Given the description of an element on the screen output the (x, y) to click on. 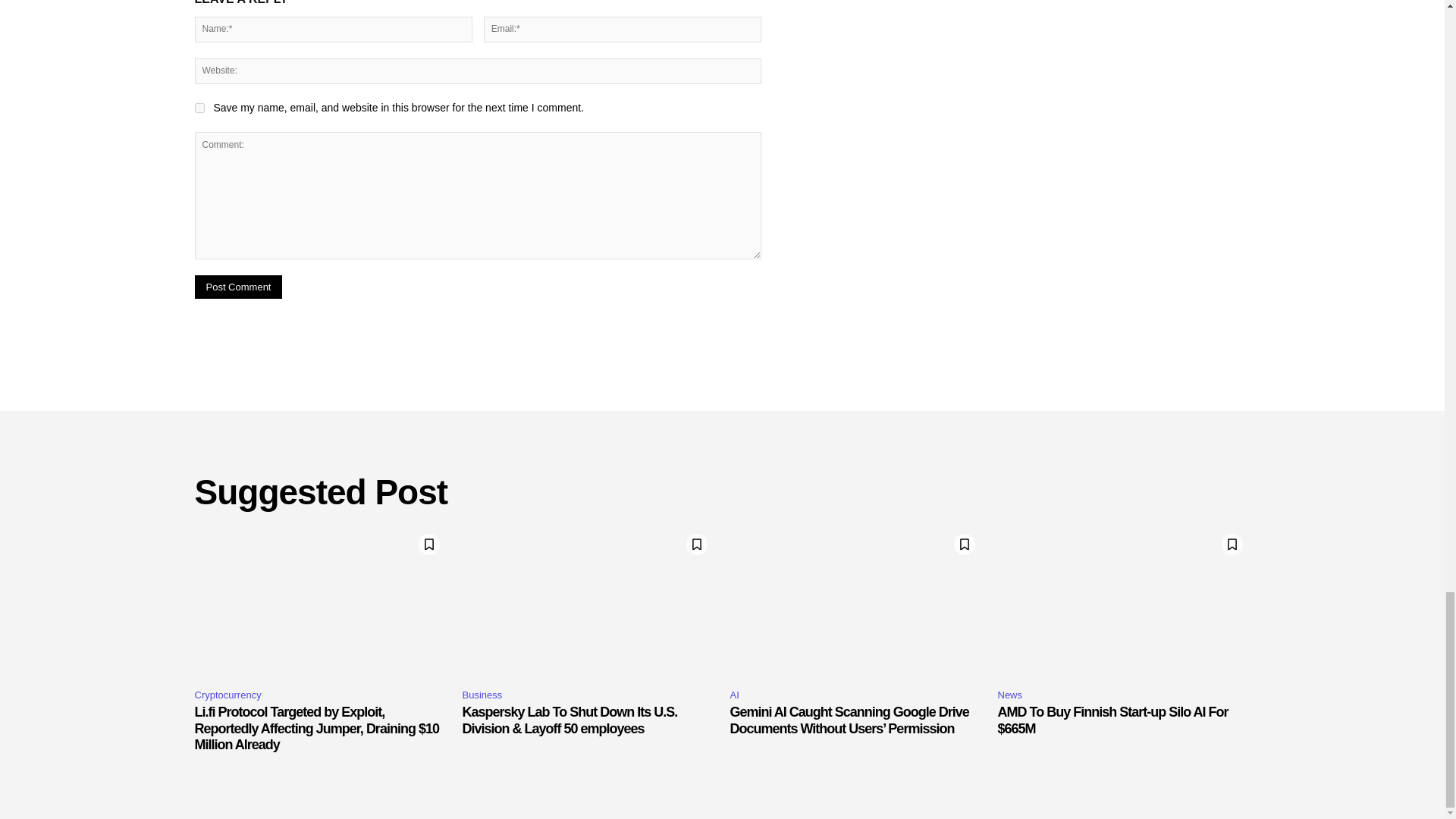
Post Comment (237, 286)
yes (198, 108)
Post Comment (237, 286)
